Given the description of an element on the screen output the (x, y) to click on. 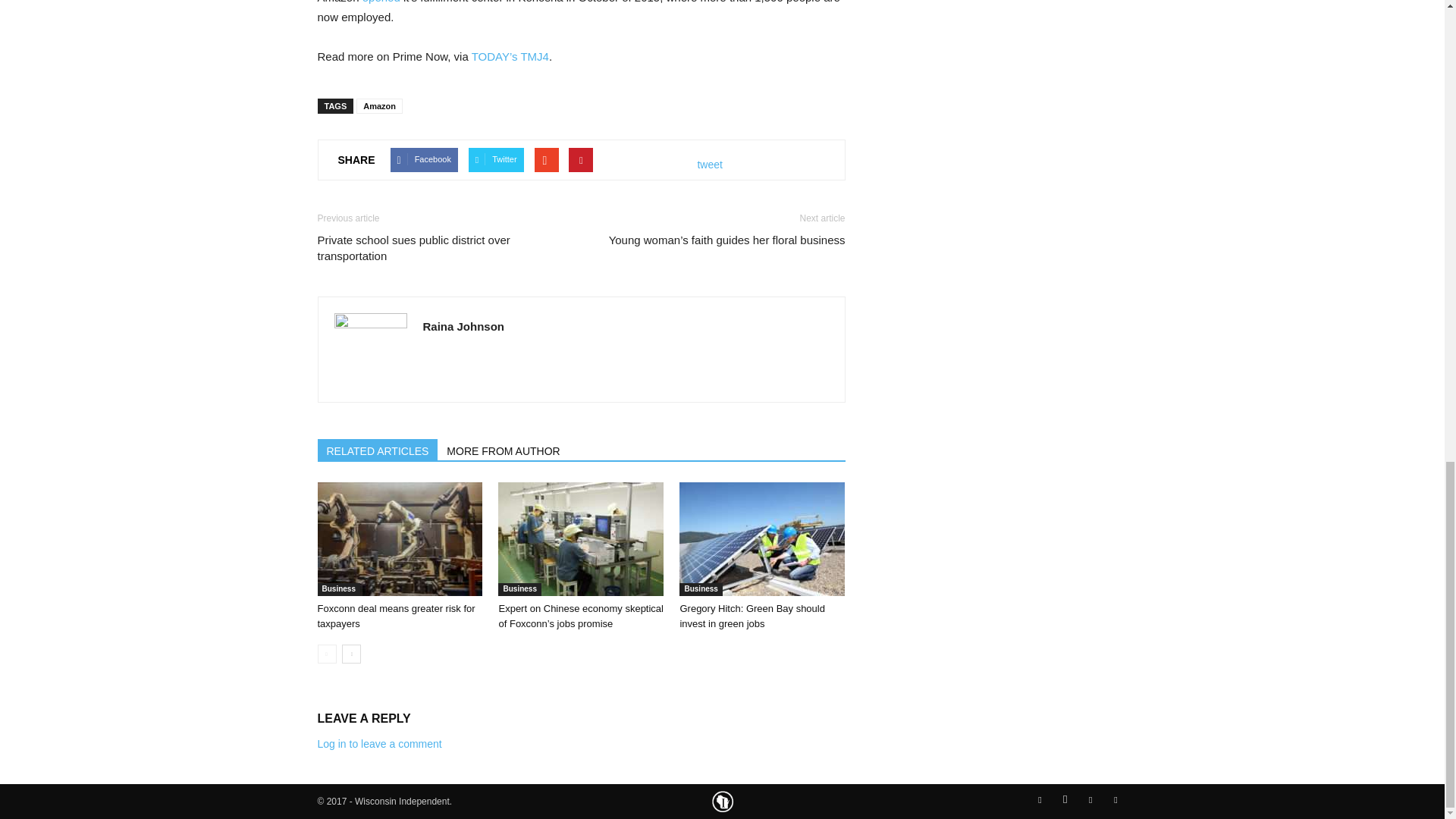
Foxconn deal means greater risk for taxpayers (399, 539)
Foxconn deal means greater risk for taxpayers (395, 615)
